Given the description of an element on the screen output the (x, y) to click on. 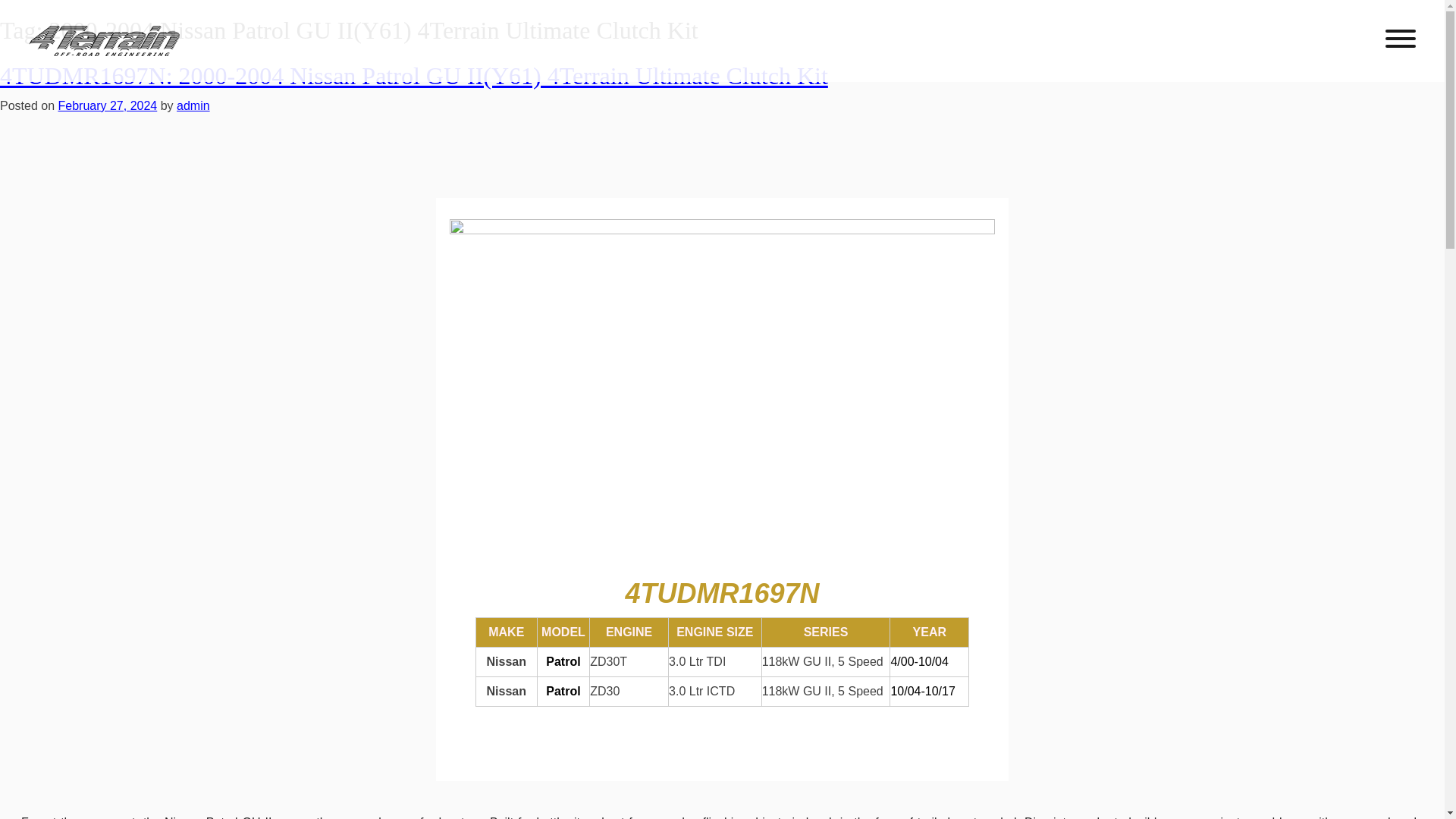
February 27, 2024 (107, 105)
admin (192, 105)
